Given the description of an element on the screen output the (x, y) to click on. 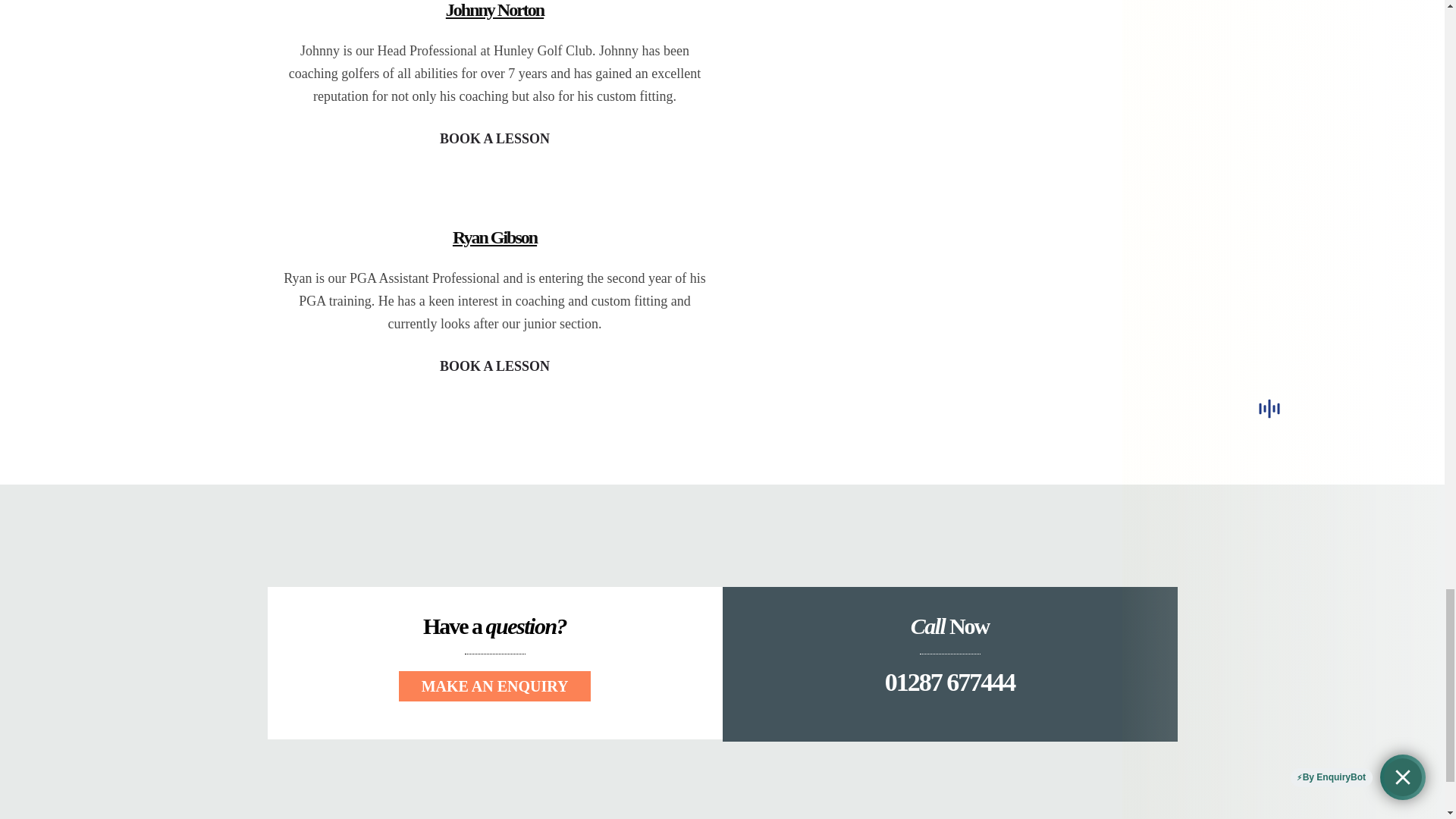
MAKE AN ENQUIRY (494, 685)
BOOK A LESSON (495, 366)
BOOK A LESSON (495, 138)
